Given the description of an element on the screen output the (x, y) to click on. 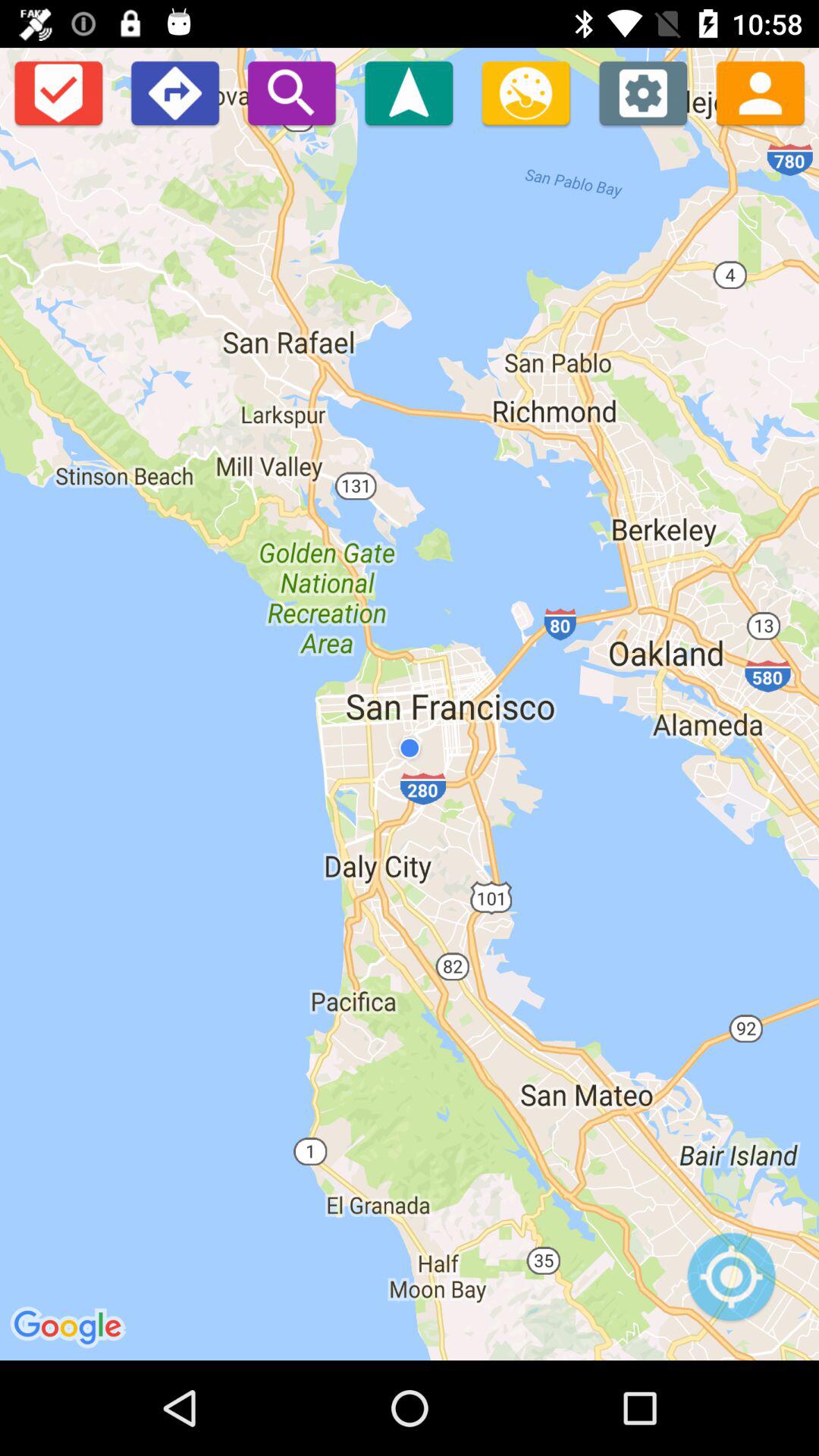
choose the item at the bottom right corner (731, 1284)
